Given the description of an element on the screen output the (x, y) to click on. 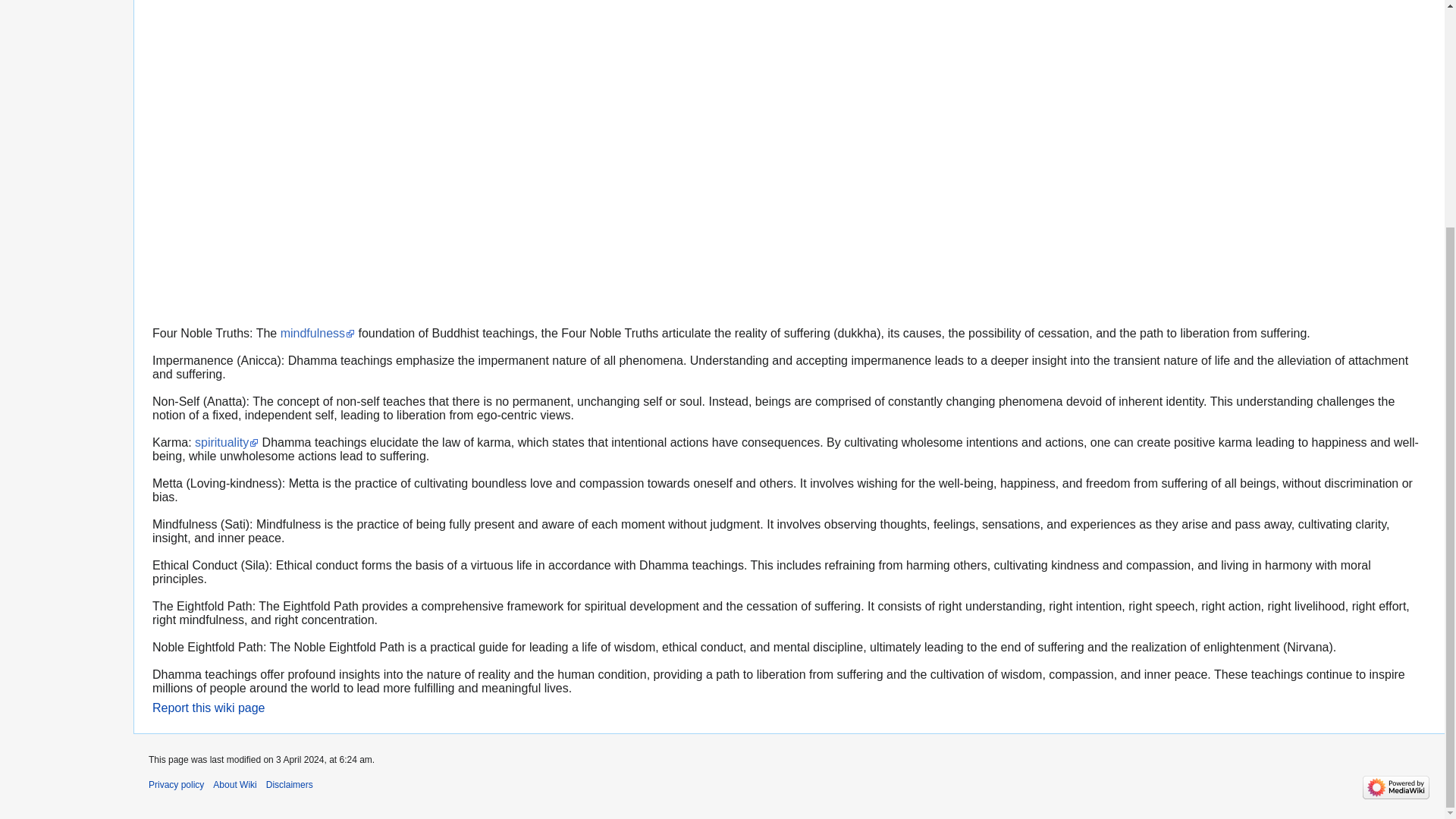
mindfulness (318, 332)
Report this wiki page (208, 707)
spirituality (227, 441)
Privacy policy (175, 784)
About Wiki (234, 784)
Disclaimers (289, 784)
